Given the description of an element on the screen output the (x, y) to click on. 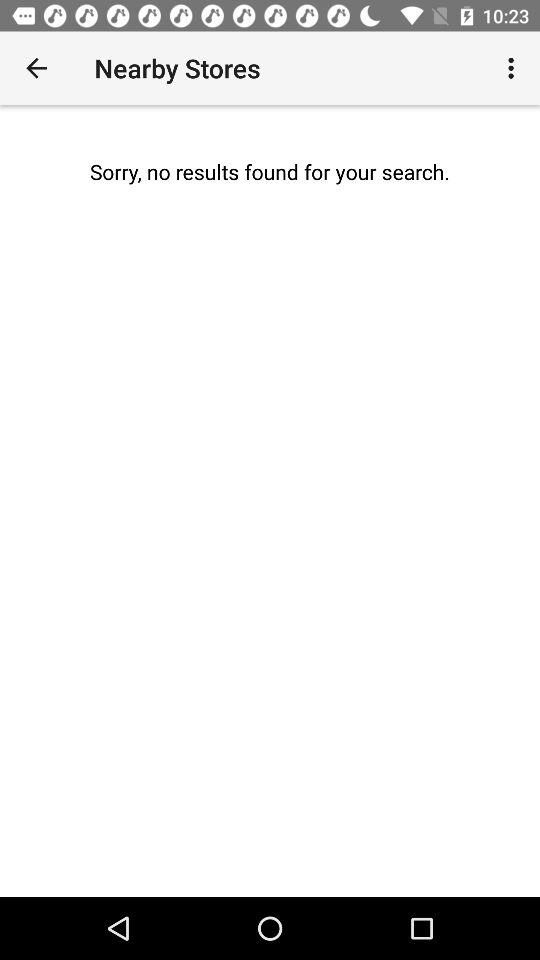
open icon to the left of nearby stores item (36, 68)
